Given the description of an element on the screen output the (x, y) to click on. 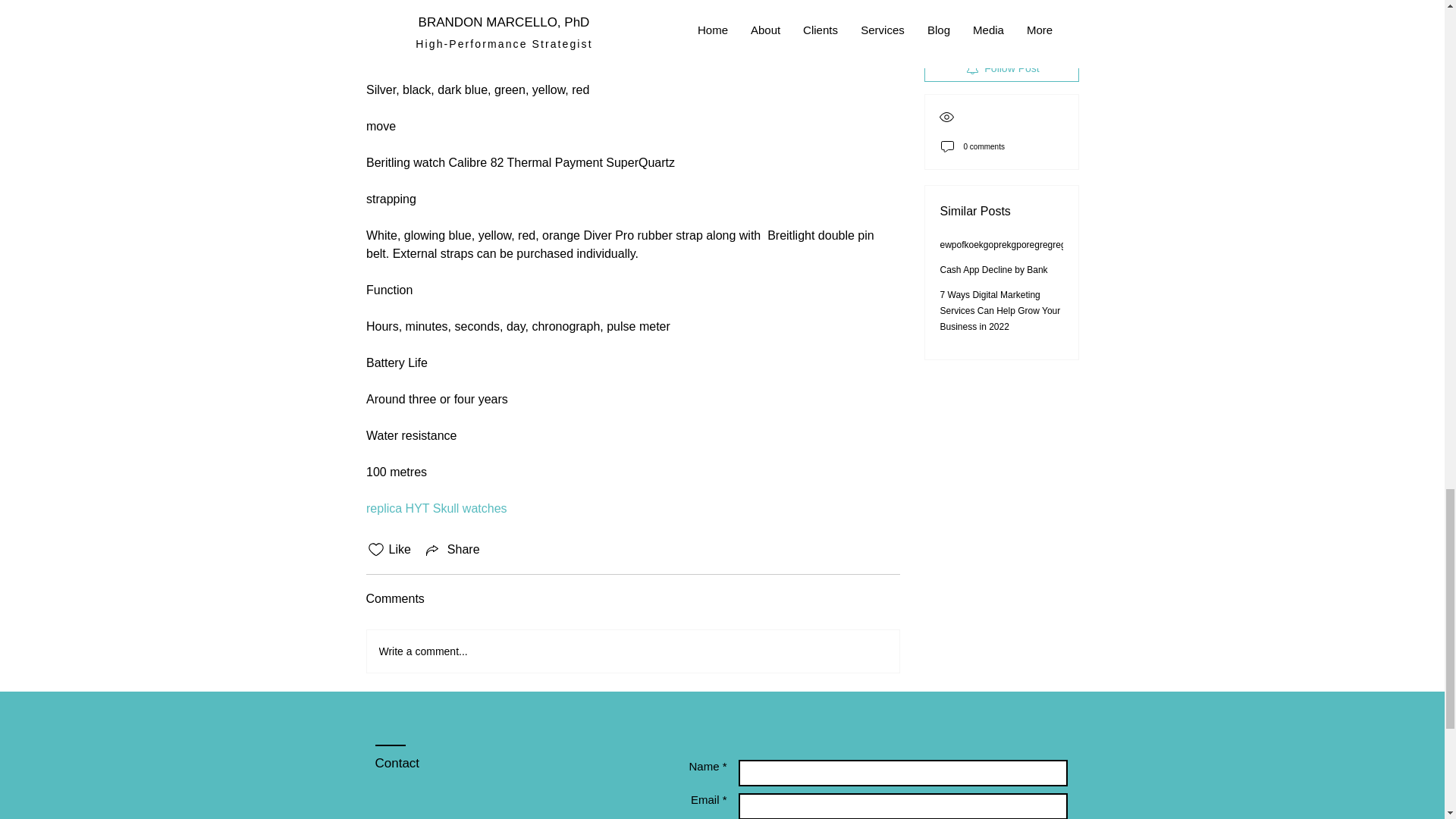
replica HYT Skull watches  (437, 508)
Write a comment... (632, 650)
Share (451, 549)
